Given the description of an element on the screen output the (x, y) to click on. 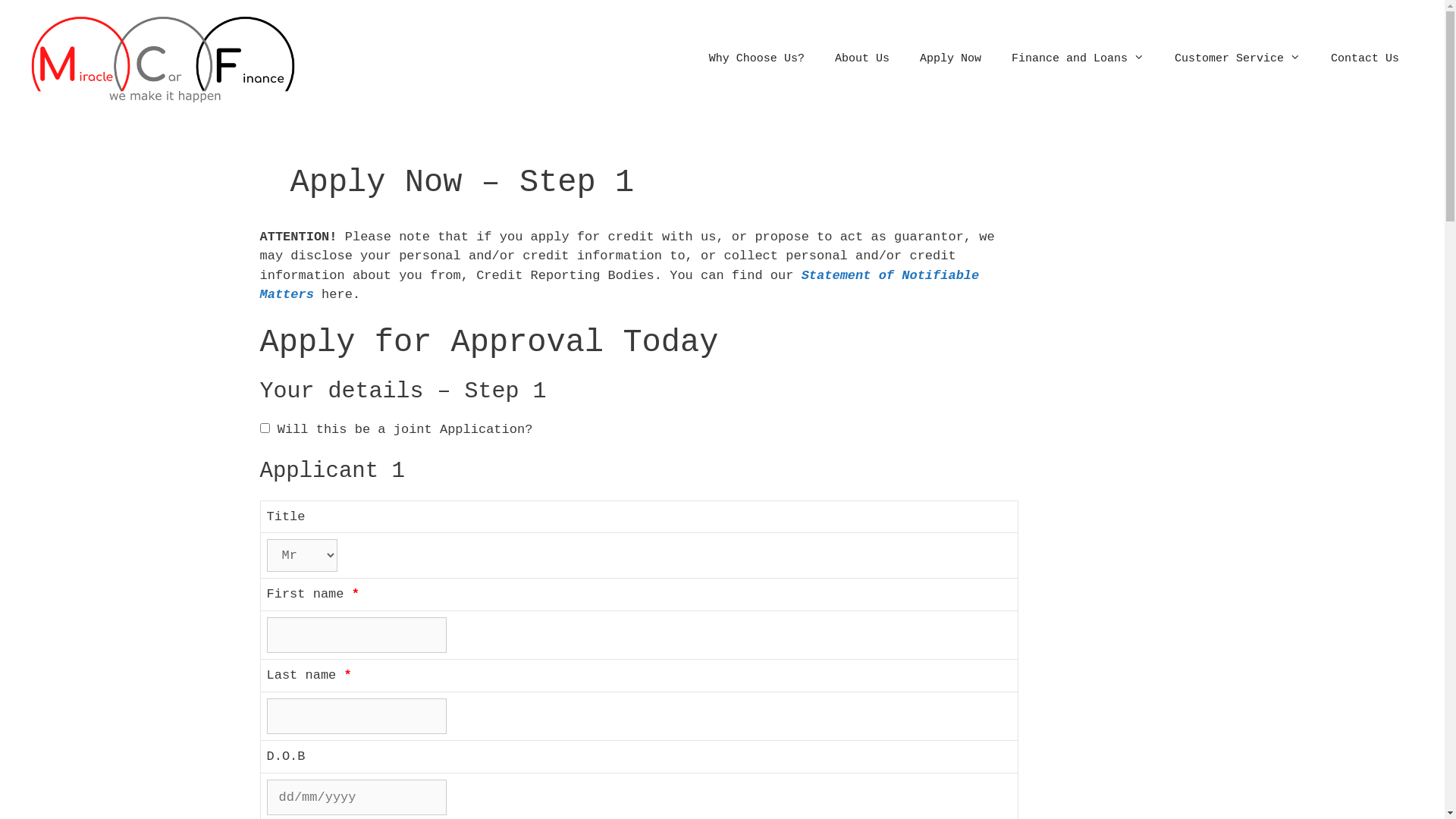
Car Finance Brisbane | Miracle Car Finance Element type: hover (162, 58)
on Element type: text (264, 428)
Apply Now Element type: text (950, 58)
Car Finance Brisbane | Miracle Car Finance Element type: hover (162, 59)
Finance and Loans Element type: text (1077, 58)
About Us Element type: text (861, 58)
Customer Service Element type: text (1237, 58)
Statement of Notifiable Matters Element type: text (619, 285)
Why Choose Us? Element type: text (756, 58)
Contact Us Element type: text (1364, 58)
